Given the description of an element on the screen output the (x, y) to click on. 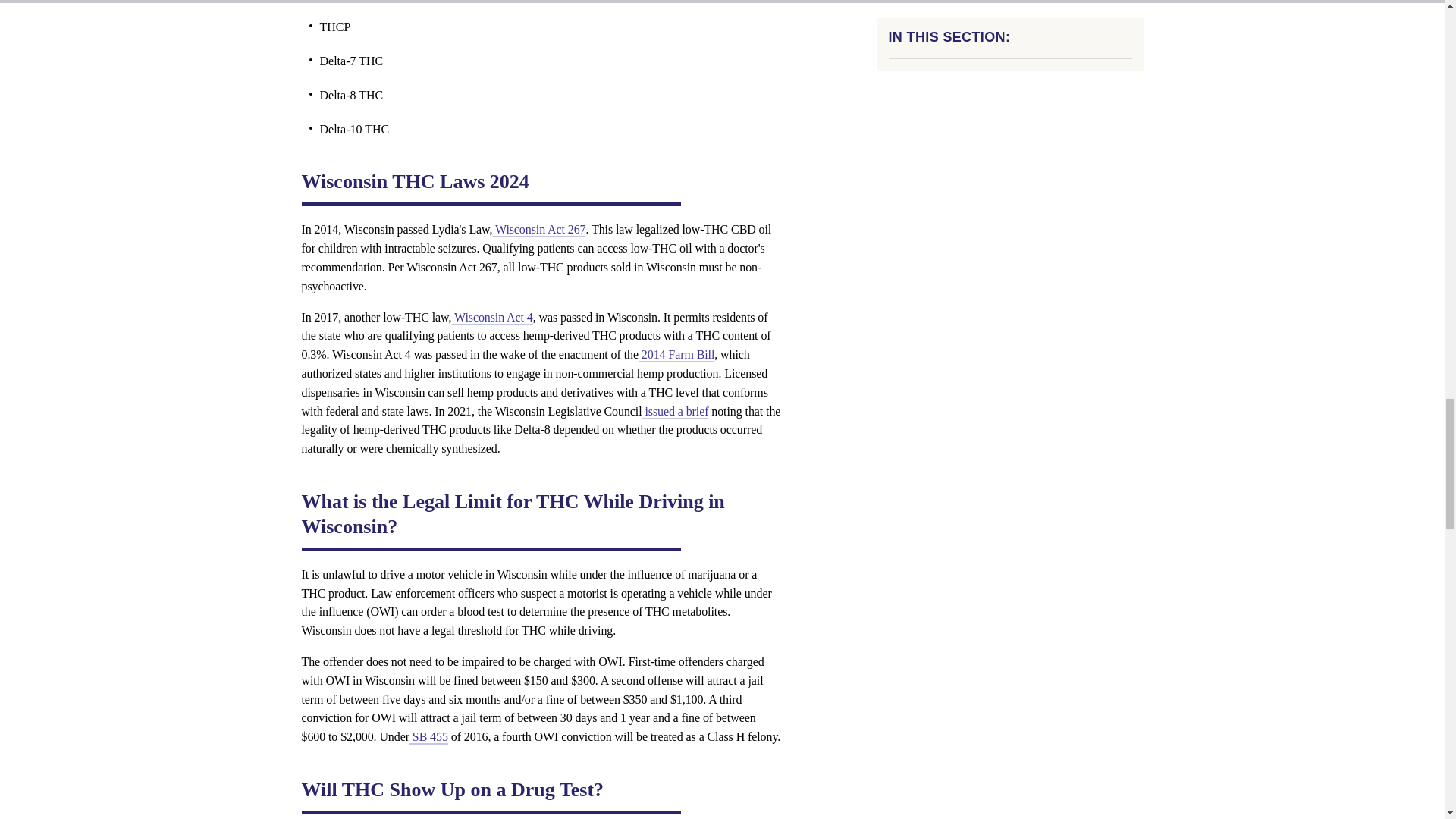
2014 Farm Bill (676, 354)
issued a brief (675, 410)
SB 455 (428, 736)
Wisconsin Act 4 (491, 317)
Wisconsin Act 267 (538, 228)
